Given the description of an element on the screen output the (x, y) to click on. 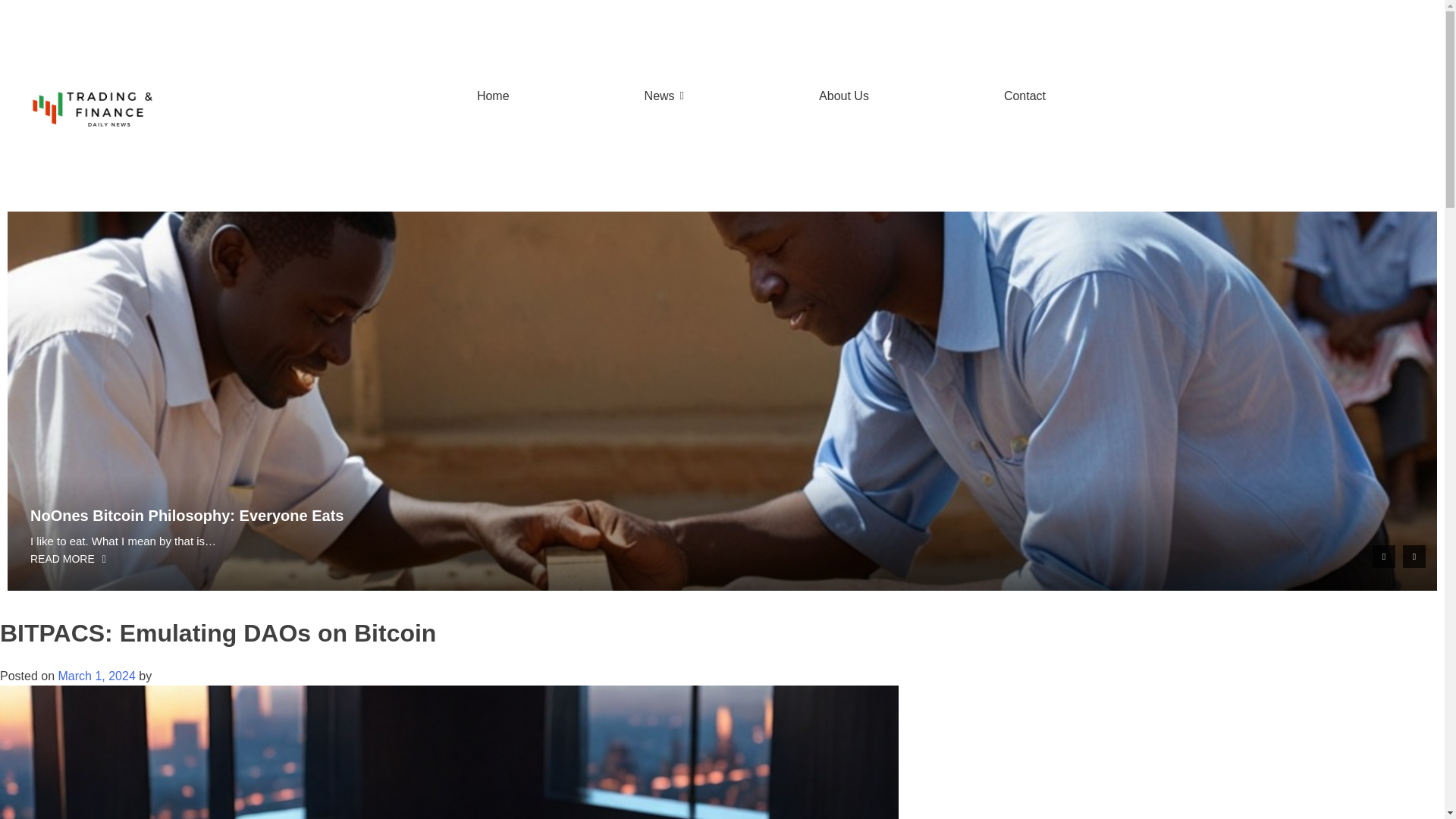
Contact (1024, 96)
News (664, 96)
Previous (1383, 556)
Home (493, 96)
About Us (844, 96)
